Given the description of an element on the screen output the (x, y) to click on. 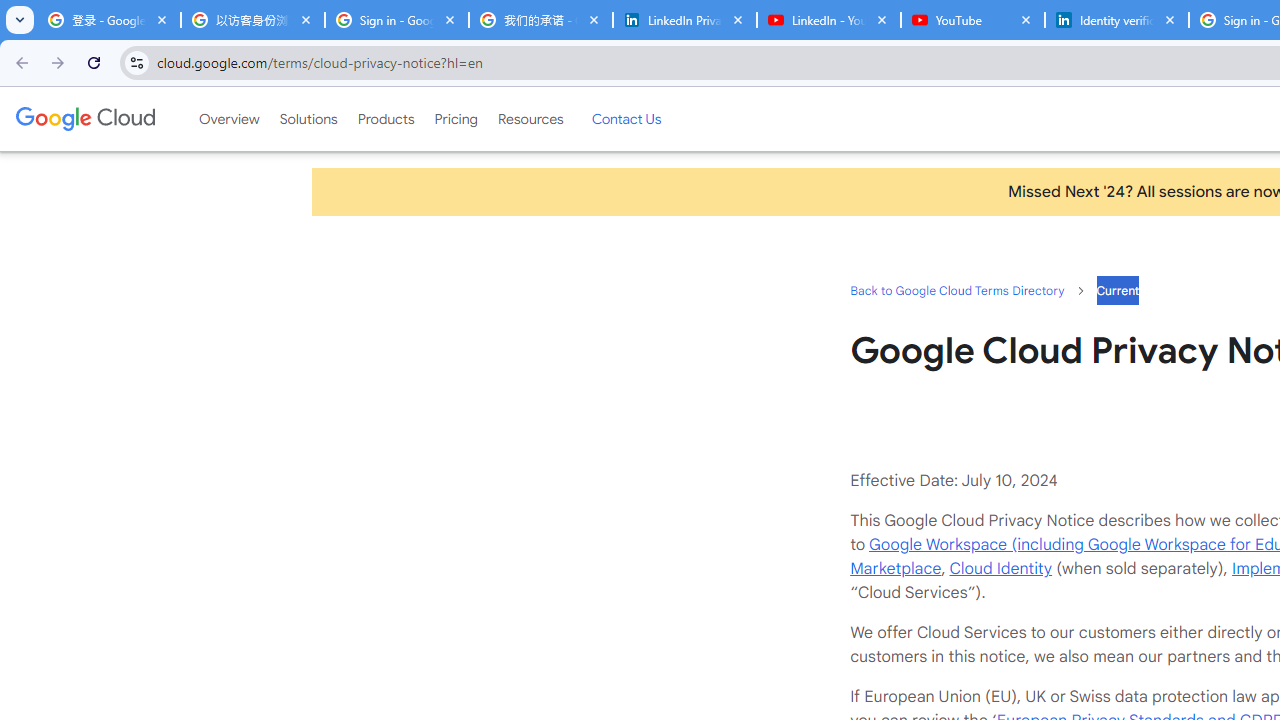
Resources (530, 119)
Cloud Identity (1000, 568)
Google Cloud (84, 118)
LinkedIn - YouTube (828, 20)
Contact Us (626, 119)
Pricing (455, 119)
